Given the description of an element on the screen output the (x, y) to click on. 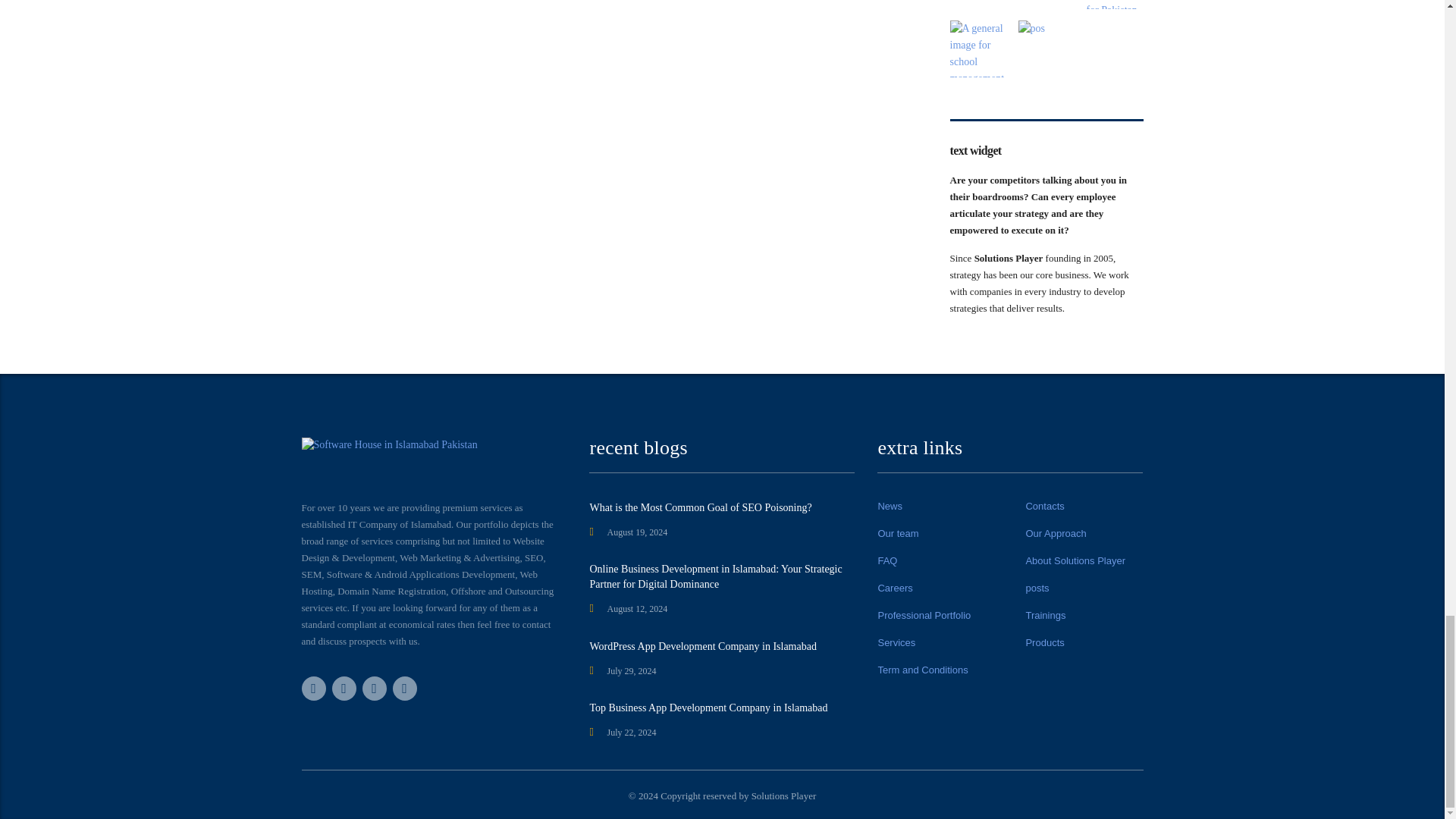
Pakistan taxi app (1114, 4)
pos (1045, 48)
djp (977, 4)
dfms (1045, 4)
school management software (977, 48)
